Given the description of an element on the screen output the (x, y) to click on. 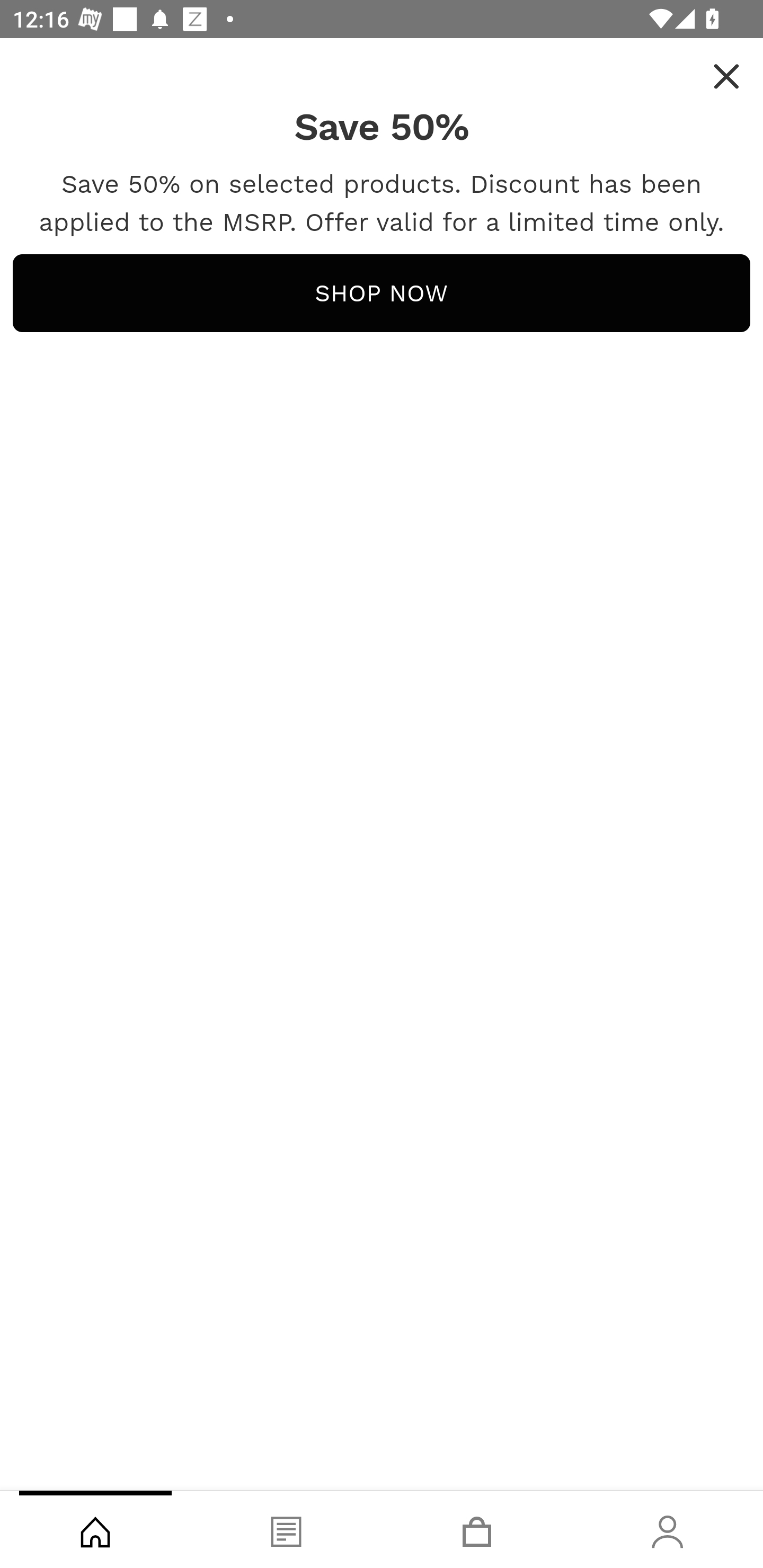
Close (725, 76)
SHOP NOW (381, 293)
Shop, tab, 1 of 4 (95, 1529)
Blog, tab, 2 of 4 (285, 1529)
Basket, tab, 3 of 4 (476, 1529)
Account, tab, 4 of 4 (667, 1529)
